Given the description of an element on the screen output the (x, y) to click on. 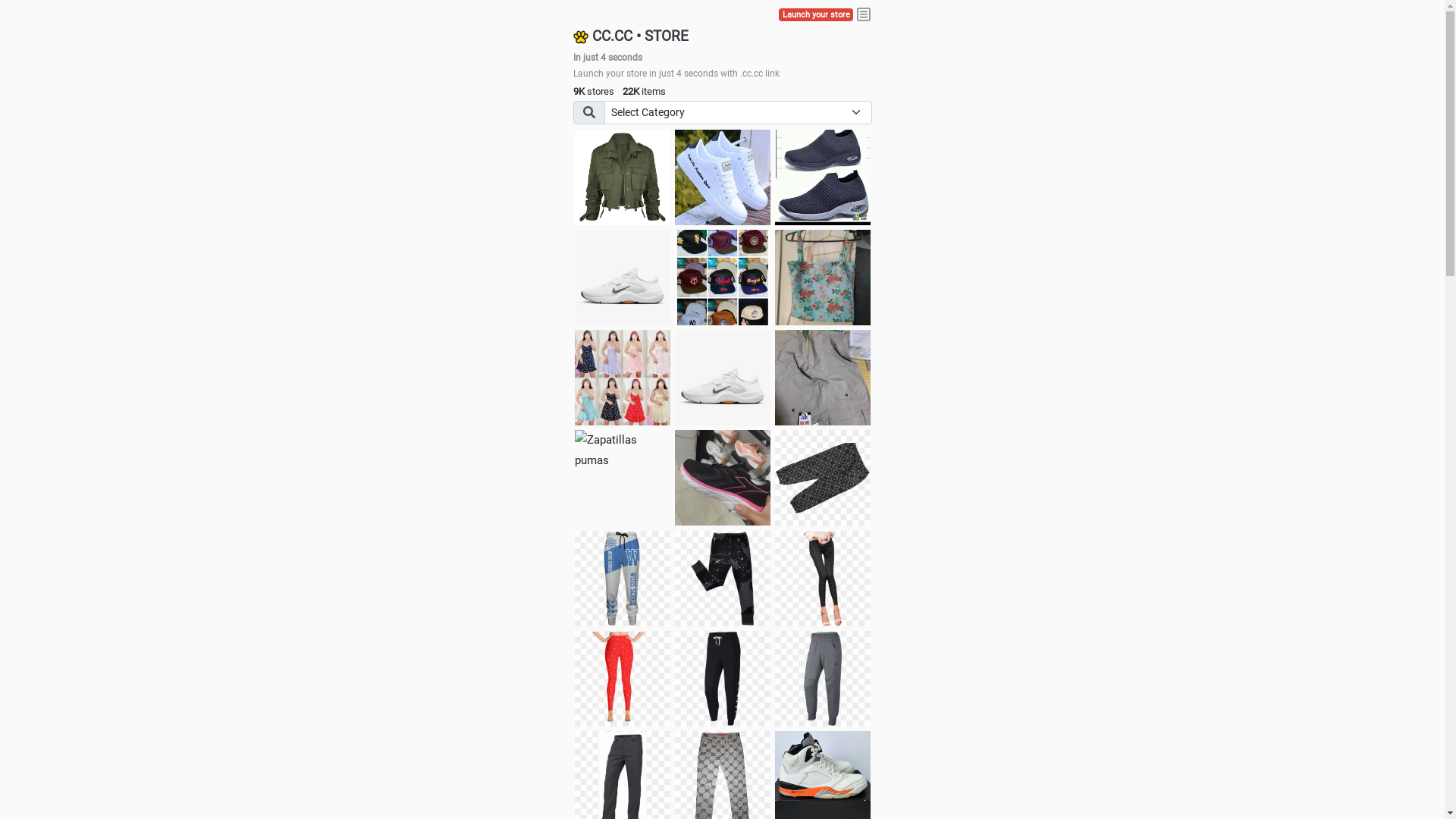
Pant Element type: hover (822, 578)
Shoes for boys Element type: hover (622, 277)
Zapatillas Element type: hover (722, 477)
Things we need Element type: hover (722, 277)
Shoes Element type: hover (722, 377)
Zapatillas pumas Element type: hover (622, 449)
Short pant Element type: hover (822, 477)
white shoes Element type: hover (722, 177)
Pant Element type: hover (822, 678)
Pant Element type: hover (722, 678)
jacket Element type: hover (622, 177)
Pant Element type: hover (622, 578)
Pant Element type: hover (622, 678)
Dress/square nect top Element type: hover (622, 377)
Launch your store Element type: text (815, 14)
Ukay cloth Element type: hover (822, 277)
shoes for boys Element type: hover (822, 177)
Pant Element type: hover (722, 578)
